Given the description of an element on the screen output the (x, y) to click on. 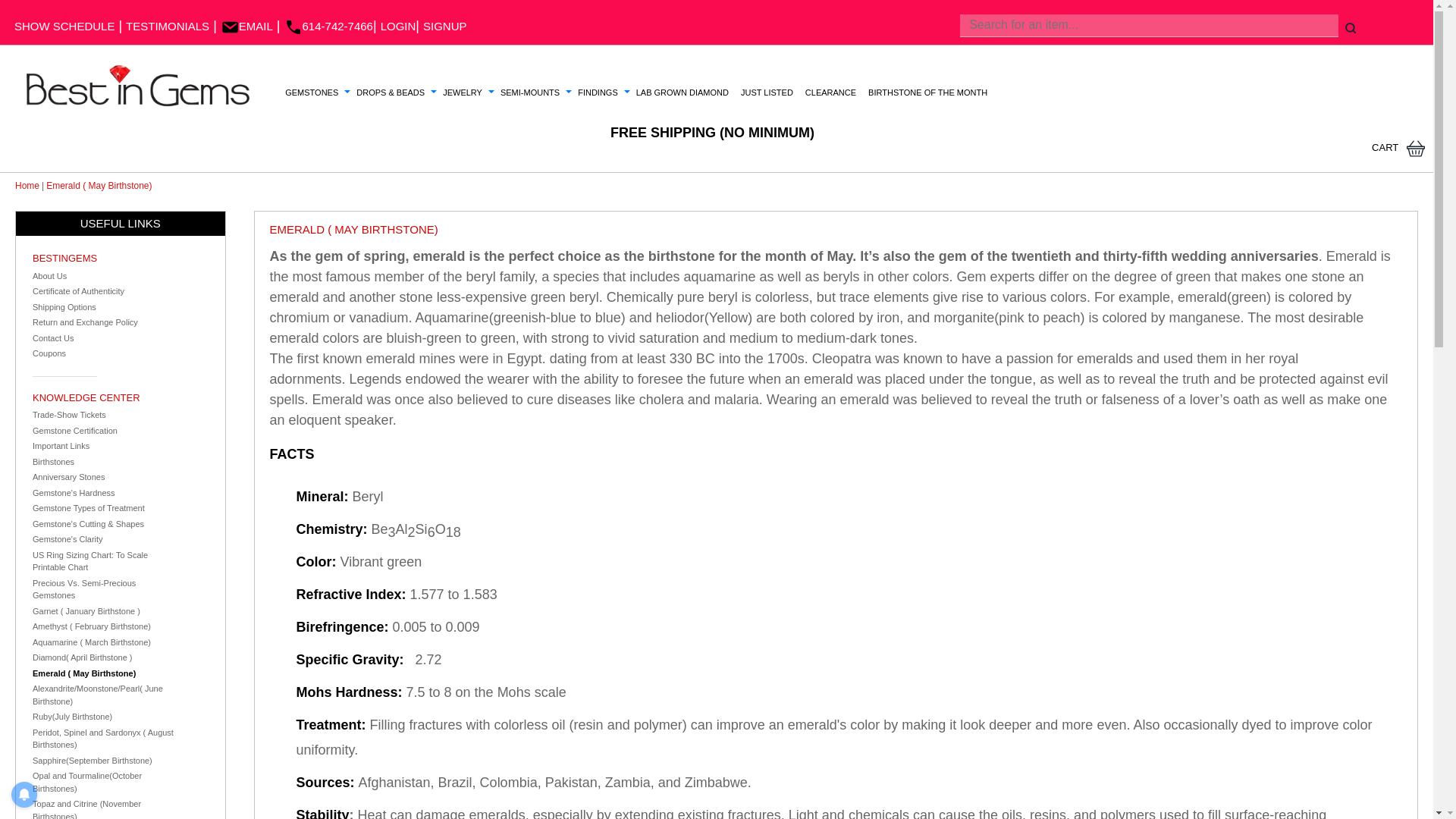
SHOW SCHEDULE (64, 25)
JEWELRY (461, 92)
LOGIN (398, 25)
EMAIL (247, 25)
GEMSTONES (311, 92)
TESTIMONIALS (167, 25)
SIGNUP (445, 25)
614-742-7466 (327, 25)
